Given the description of an element on the screen output the (x, y) to click on. 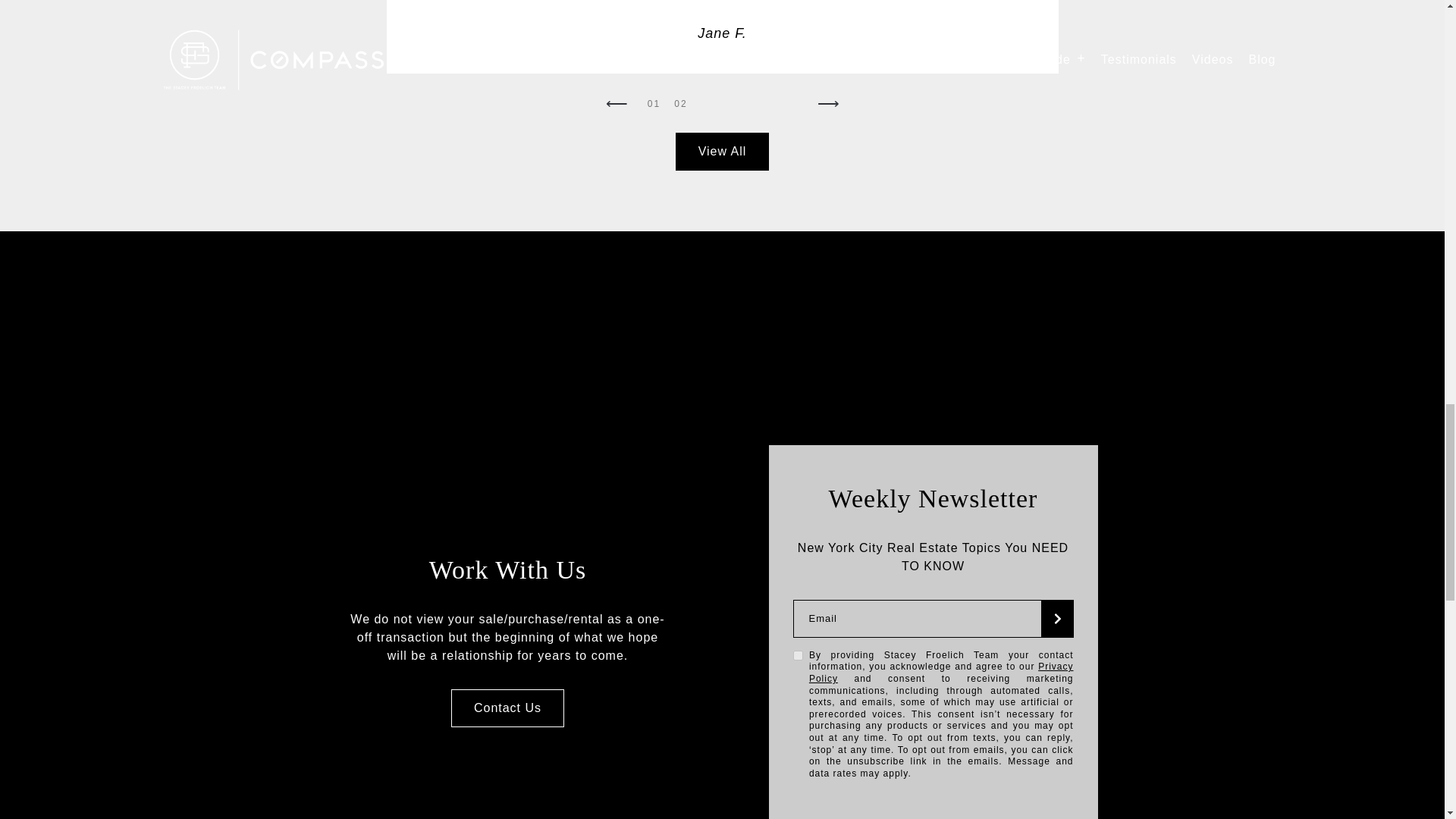
on (798, 655)
View All (722, 151)
